Given the description of an element on the screen output the (x, y) to click on. 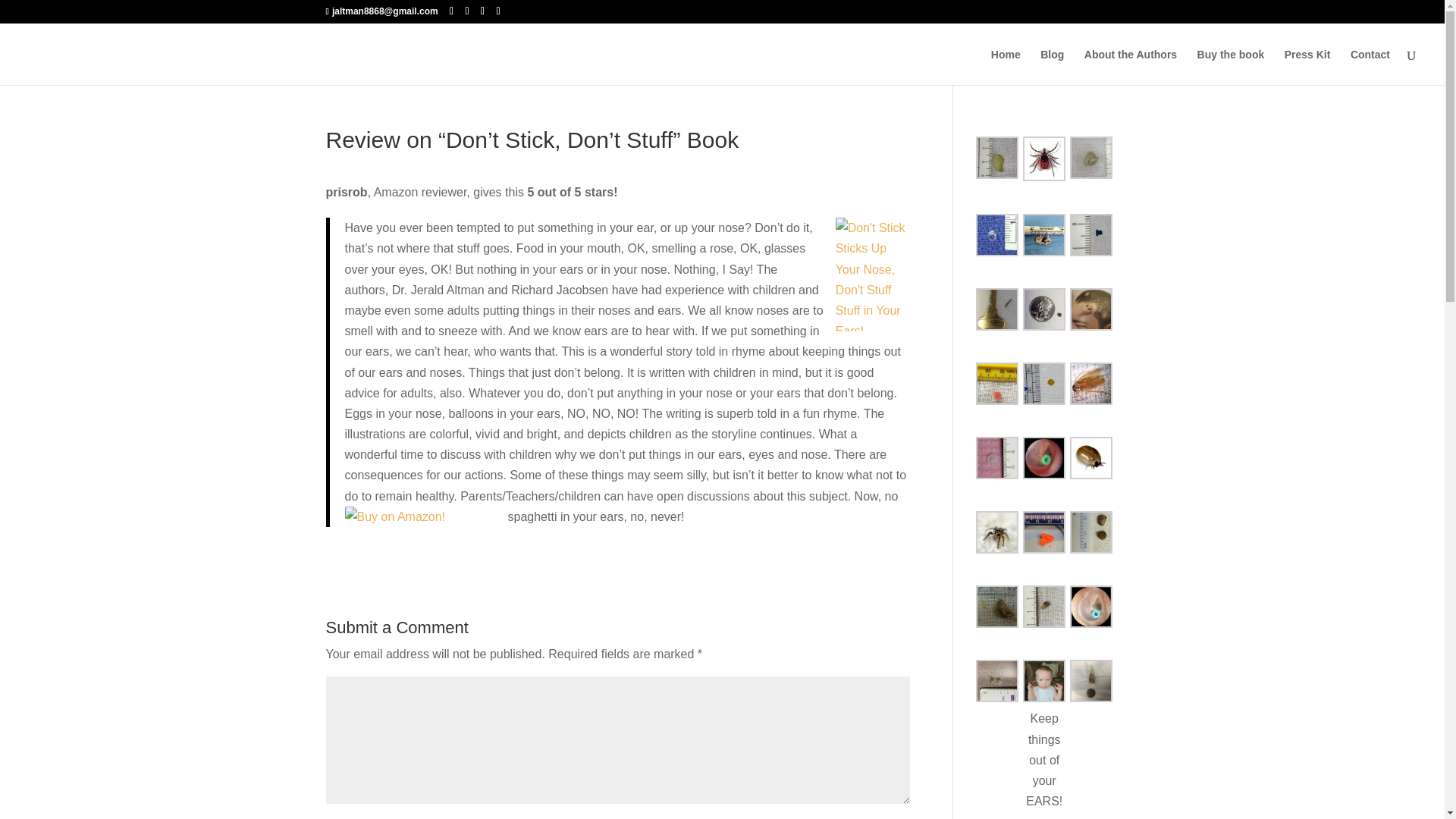
About the Authors (1130, 67)
Contact (1370, 67)
Buy the book (1230, 67)
Press Kit (1307, 67)
